Given the description of an element on the screen output the (x, y) to click on. 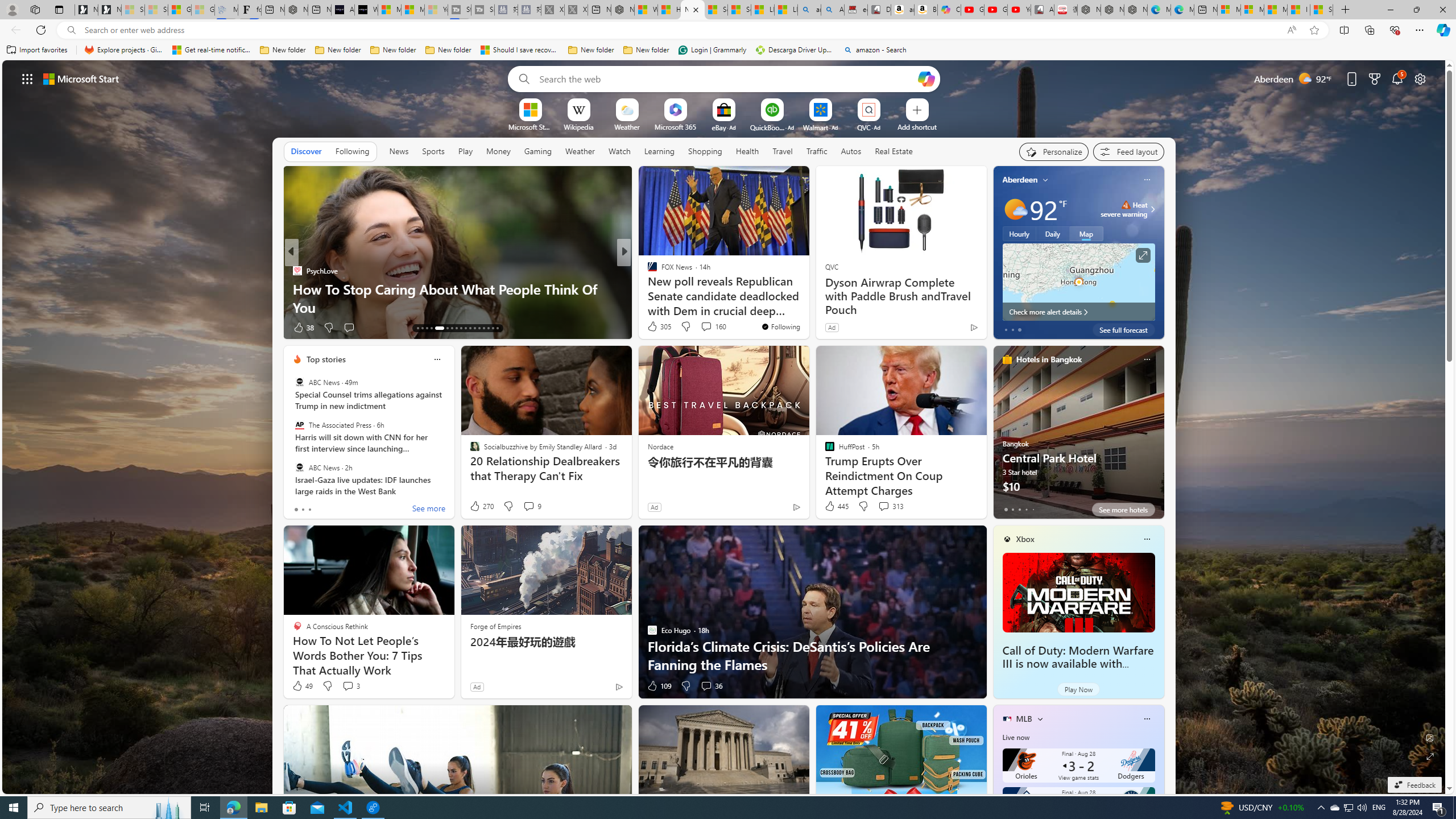
Class: control (27, 78)
AutomationID: waffle (27, 78)
View comments 48 Comment (6, 327)
View comments 26 Comment (704, 327)
Colin Allred Two Points Behind Ted Cruz in Second Texas Poll (807, 298)
AutomationID: tab-24 (474, 328)
View comments 9 Comment (532, 505)
It's officially the end for Windows 10! (807, 307)
View comments 6 Comment (703, 327)
next (1158, 252)
tab-2 (1019, 509)
